Given the description of an element on the screen output the (x, y) to click on. 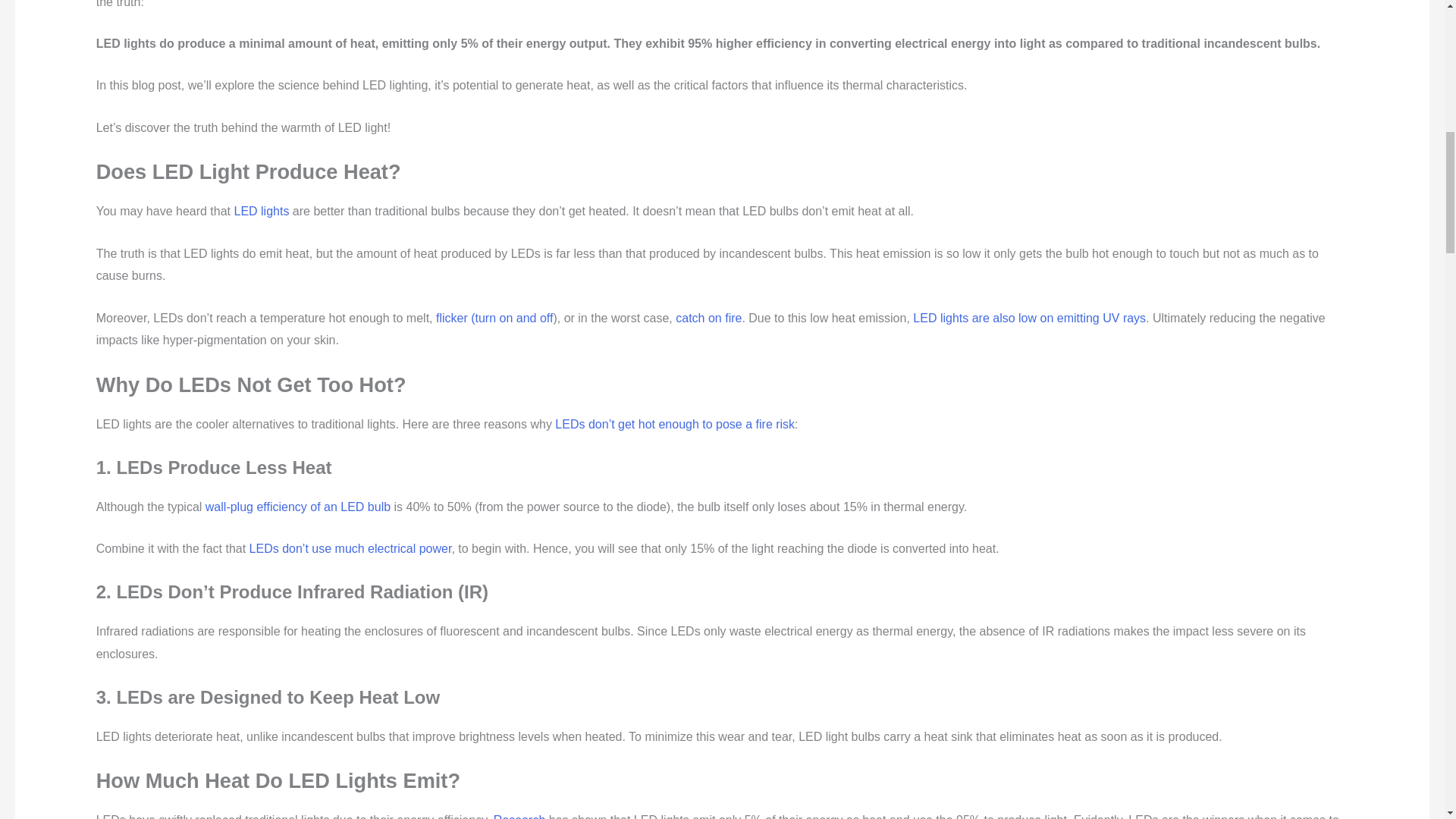
catch on fire (708, 317)
LED lights are also low on emitting UV rays (1028, 317)
wall-plug efficiency of an LED bulb (297, 506)
LED lights (260, 210)
Research (518, 816)
